Given the description of an element on the screen output the (x, y) to click on. 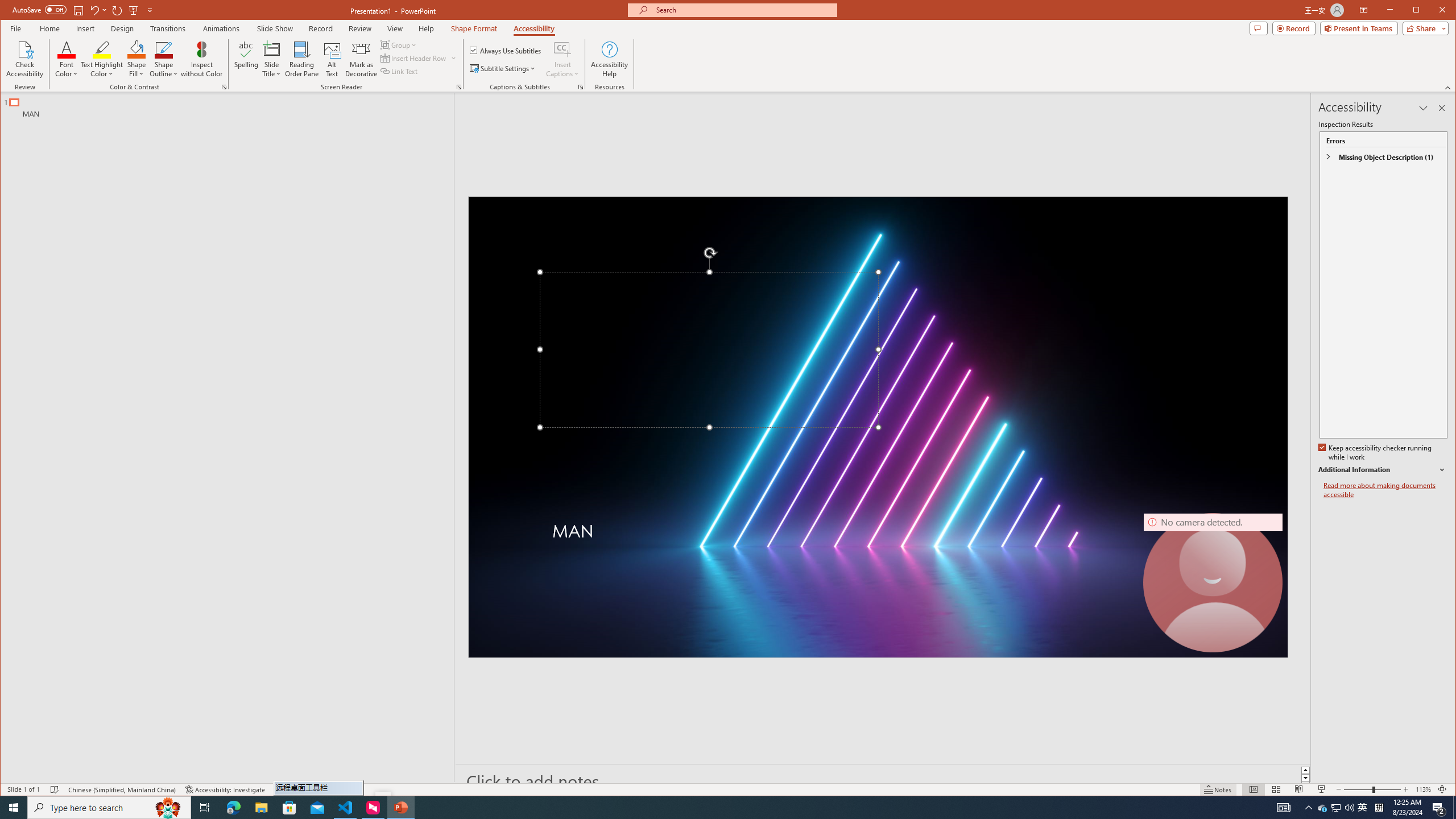
Reading Order Pane (301, 59)
